Given the description of an element on the screen output the (x, y) to click on. 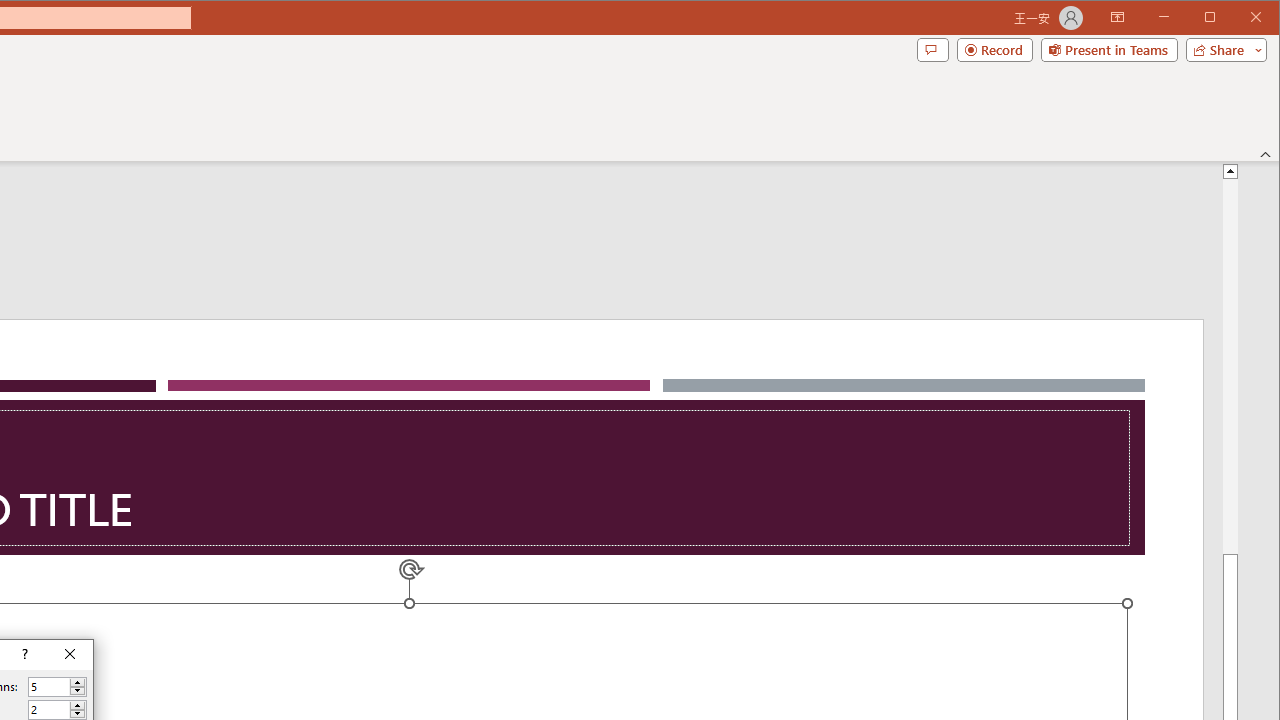
More (77, 705)
